Given the description of an element on the screen output the (x, y) to click on. 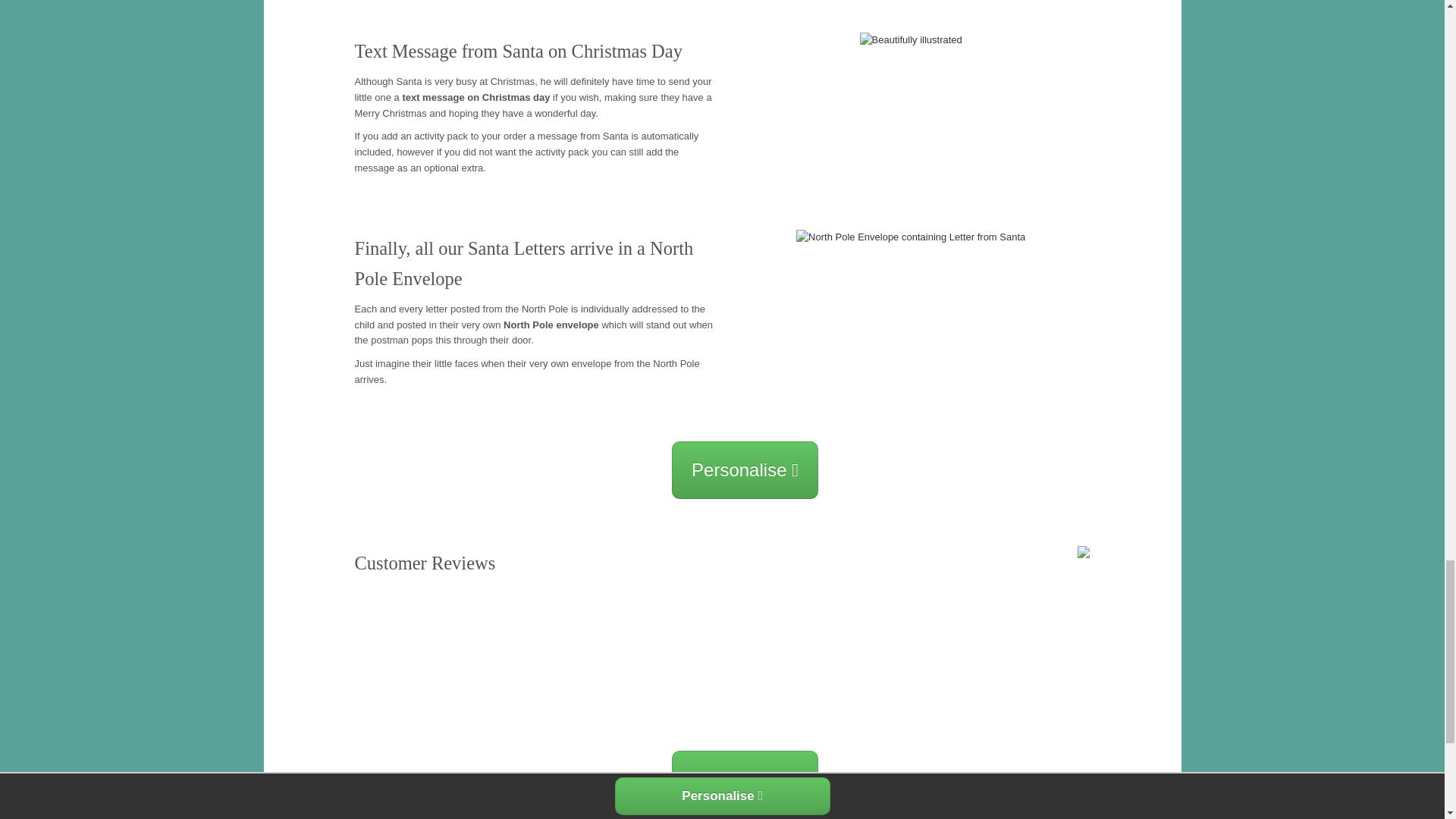
Personalise (744, 779)
Personalise (744, 469)
